Given the description of an element on the screen output the (x, y) to click on. 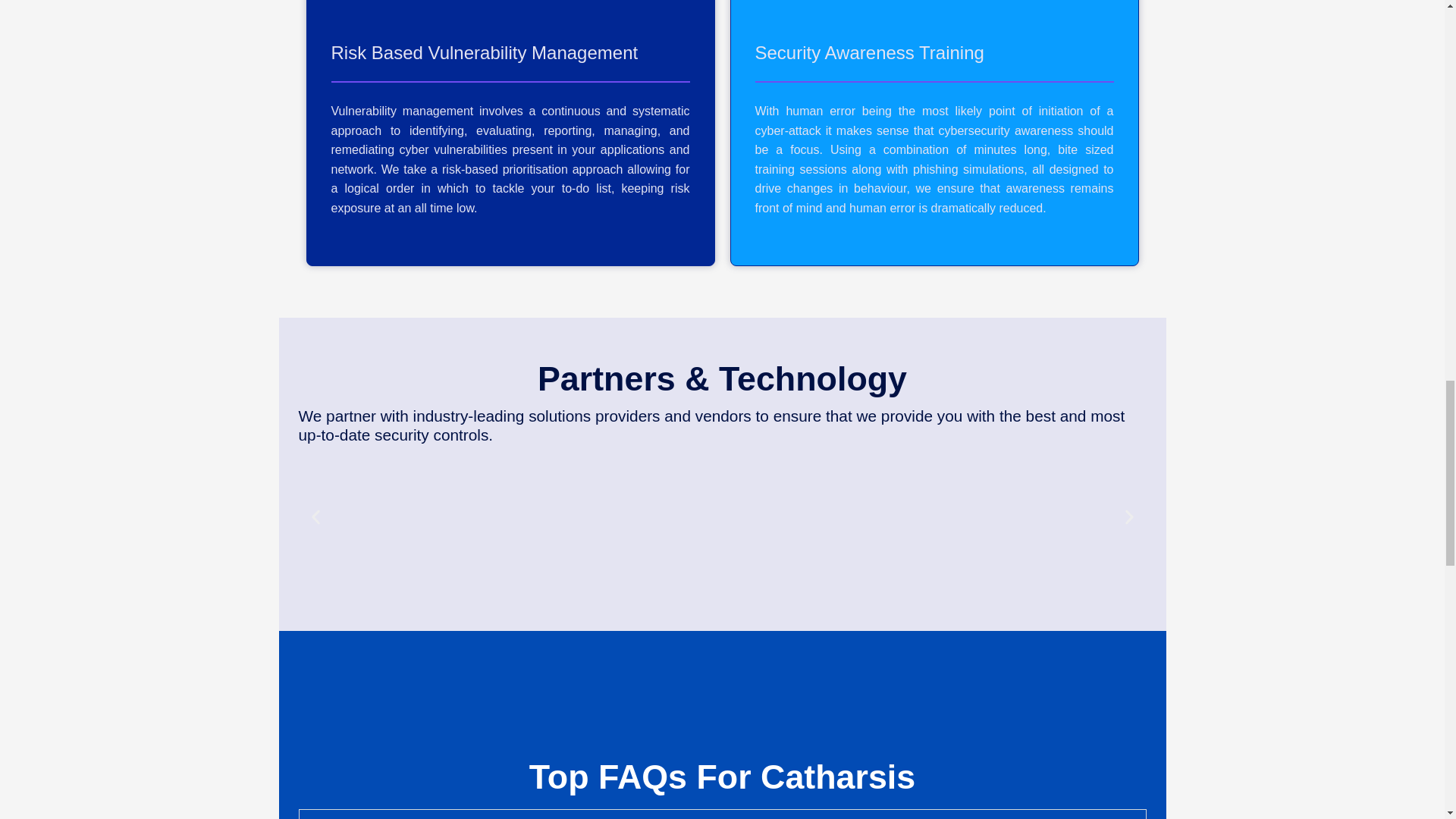
Risk Based Vulnerability Management (483, 52)
Security Awareness Training (869, 52)
